Given the description of an element on the screen output the (x, y) to click on. 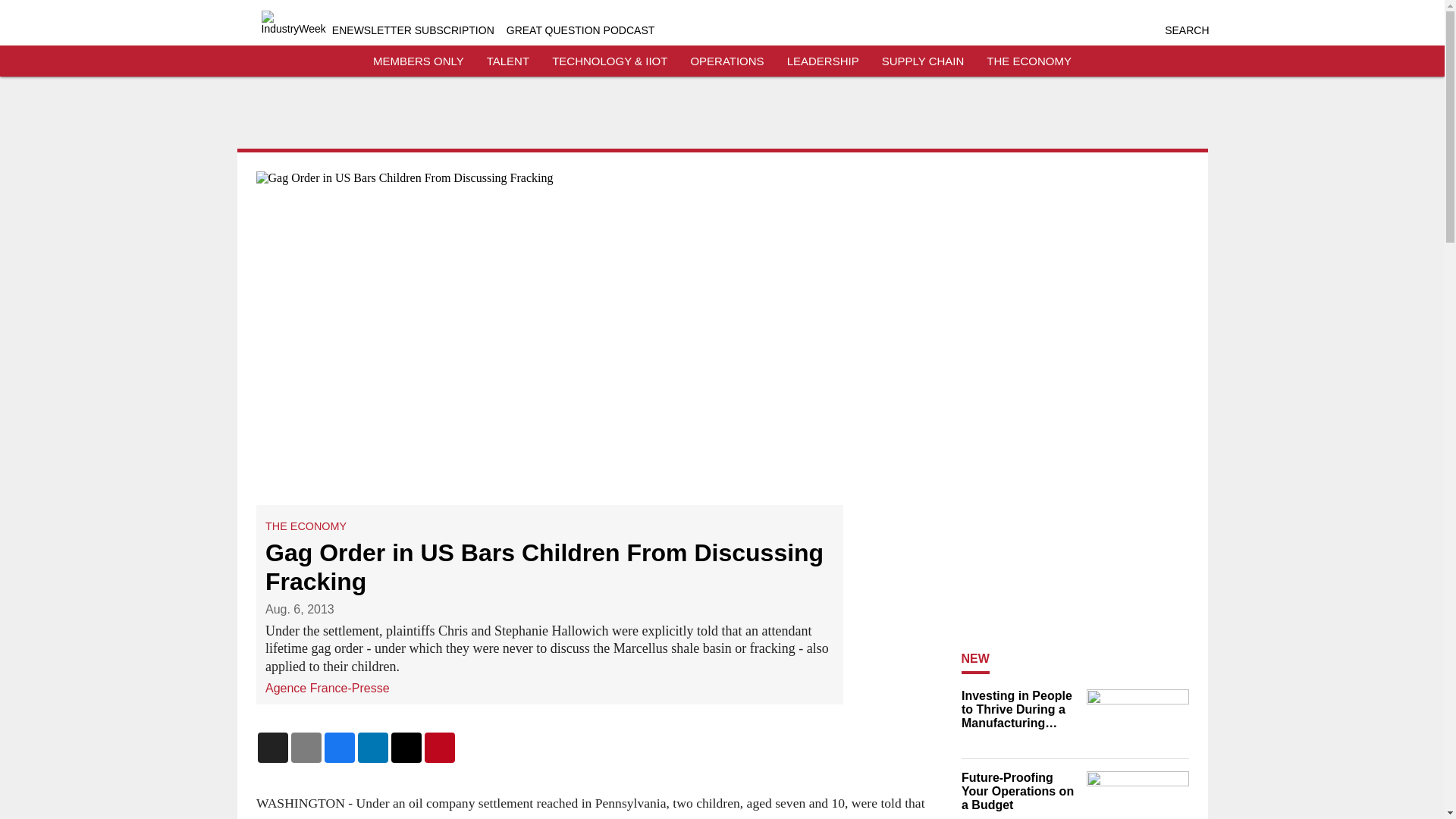
ENEWSLETTER SUBSCRIPTION (413, 30)
THE ECONOMY (305, 526)
SUPPLY CHAIN (922, 60)
LEADERSHIP (823, 60)
SEARCH (1186, 30)
GREAT QUESTION PODCAST (580, 30)
TALENT (507, 60)
THE ECONOMY (1029, 60)
Agence France-Presse (327, 687)
MEMBERS ONLY (418, 60)
OPERATIONS (726, 60)
Future-Proofing Your Operations on a Budget (1019, 791)
